Given the description of an element on the screen output the (x, y) to click on. 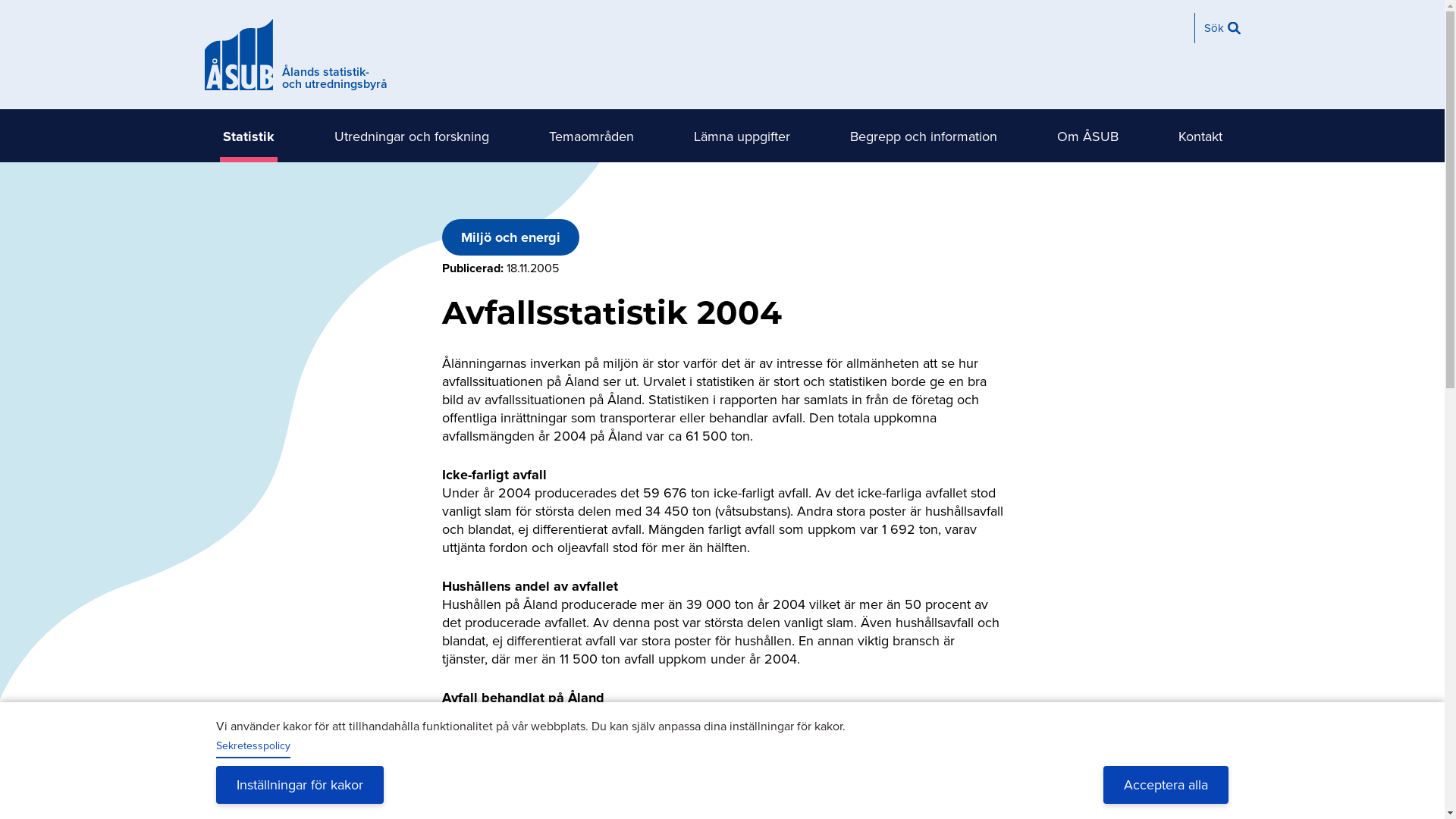
Acceptera alla Element type: text (1165, 784)
Statistik Element type: text (248, 135)
Utredningar och forskning Element type: text (410, 135)
Kontakt Element type: text (1200, 135)
Sekretesspolicy Element type: text (253, 746)
Begrepp och information Element type: text (922, 135)
